Given the description of an element on the screen output the (x, y) to click on. 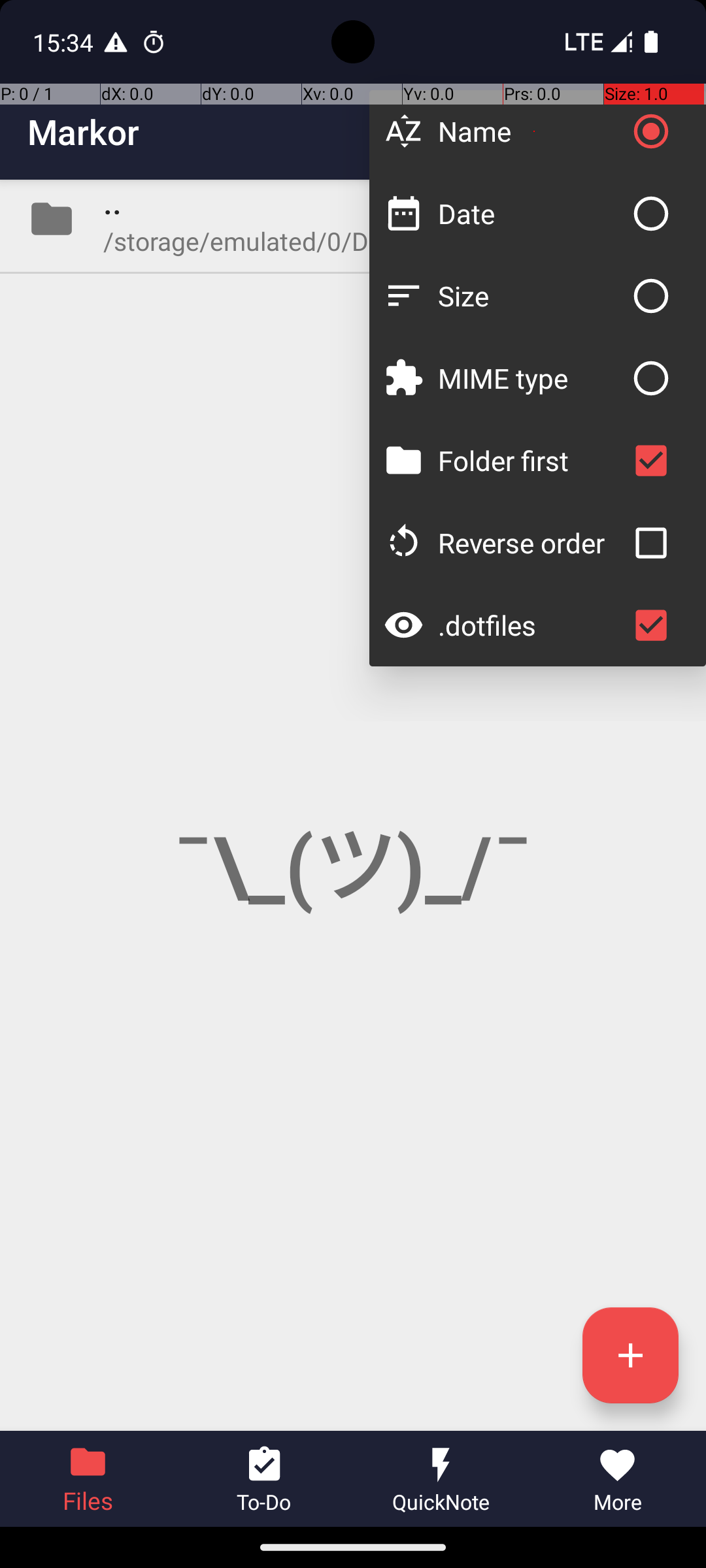
Size Element type: android.widget.TextView (530, 295)
MIME type Element type: android.widget.TextView (530, 377)
Folder first Element type: android.widget.TextView (530, 459)
Reverse order Element type: android.widget.TextView (530, 542)
.dotfiles Element type: android.widget.TextView (530, 624)
